Given the description of an element on the screen output the (x, y) to click on. 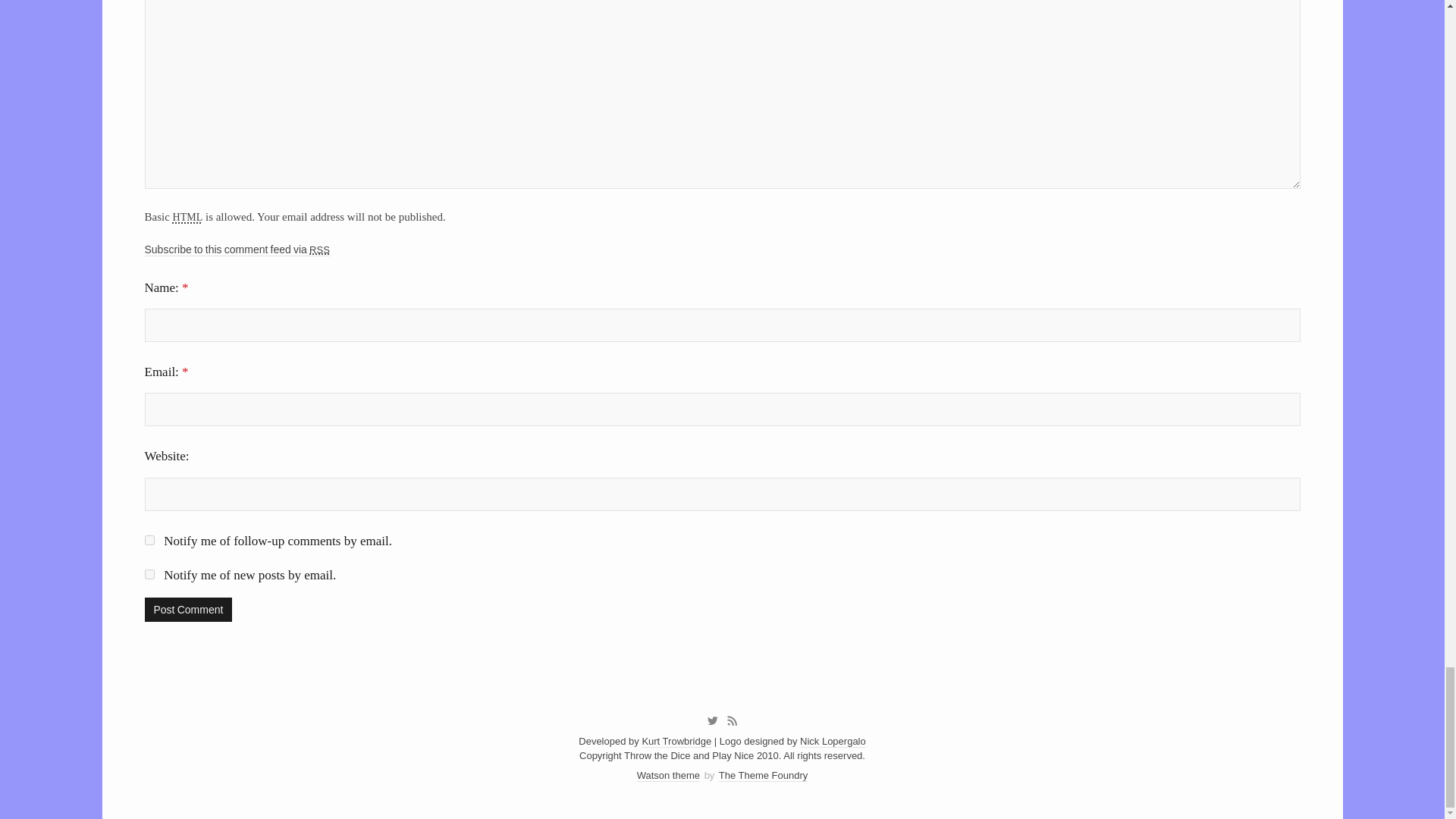
Hypertext Markup Language (188, 215)
Post Comment (187, 609)
Really Simple Syndication (319, 248)
subscribe (149, 574)
subscribe (149, 540)
